Given the description of an element on the screen output the (x, y) to click on. 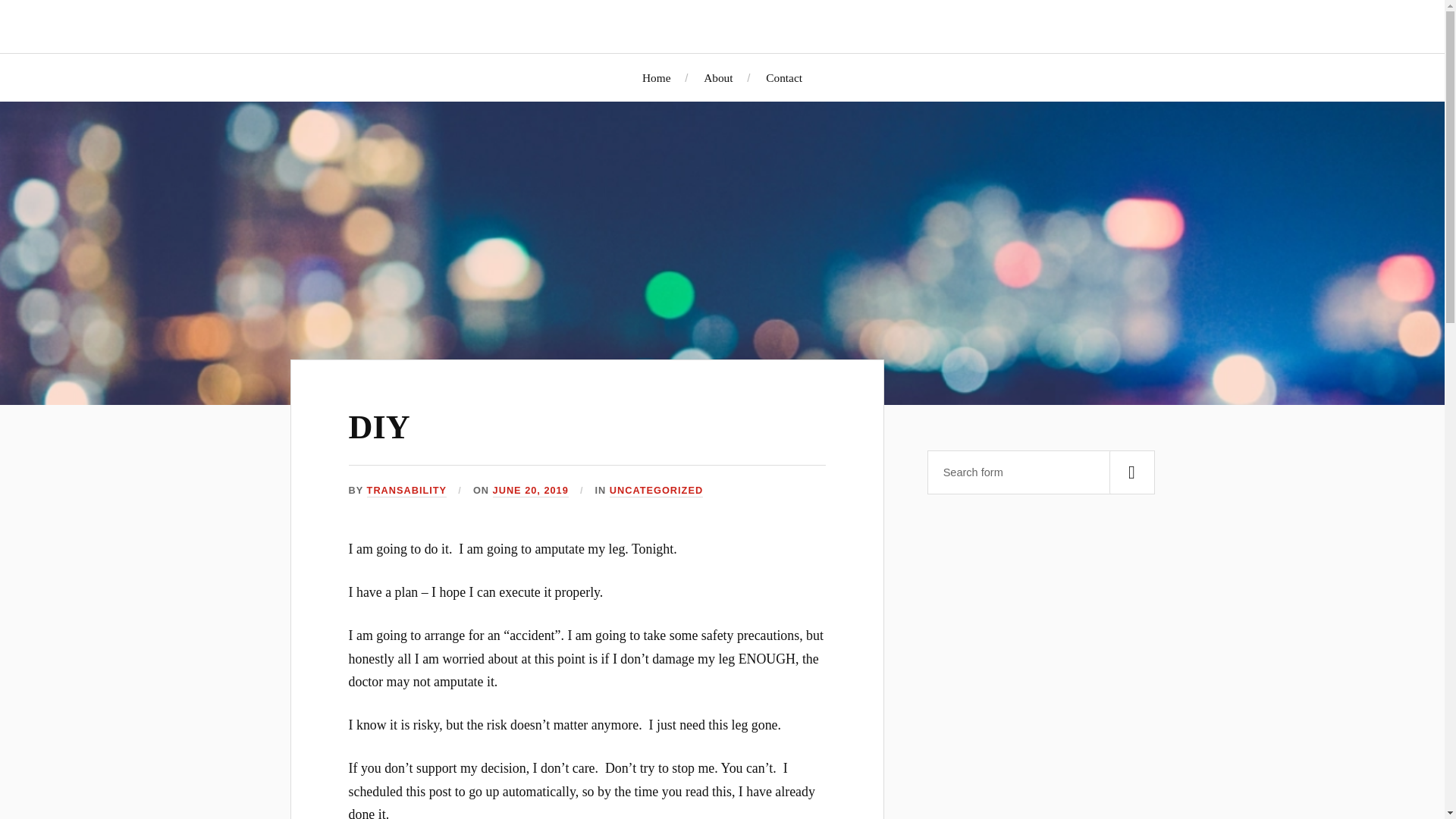
JUNE 20, 2019 (531, 490)
DIY (379, 426)
UNCATEGORIZED (656, 490)
TRANSABILITY (406, 490)
Posts by Transability (406, 490)
